Given the description of an element on the screen output the (x, y) to click on. 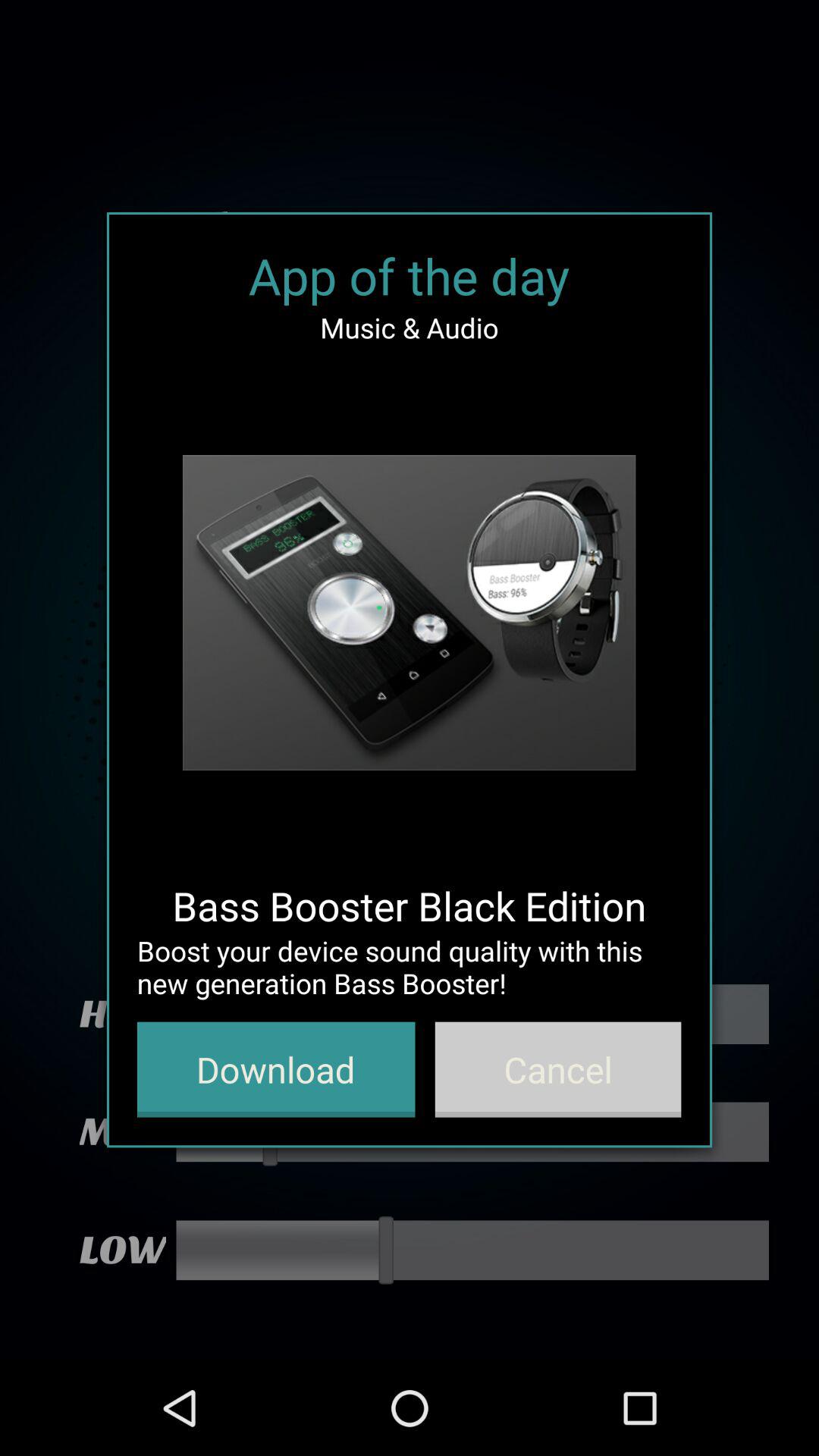
press app below the boost your device (276, 1069)
